Given the description of an element on the screen output the (x, y) to click on. 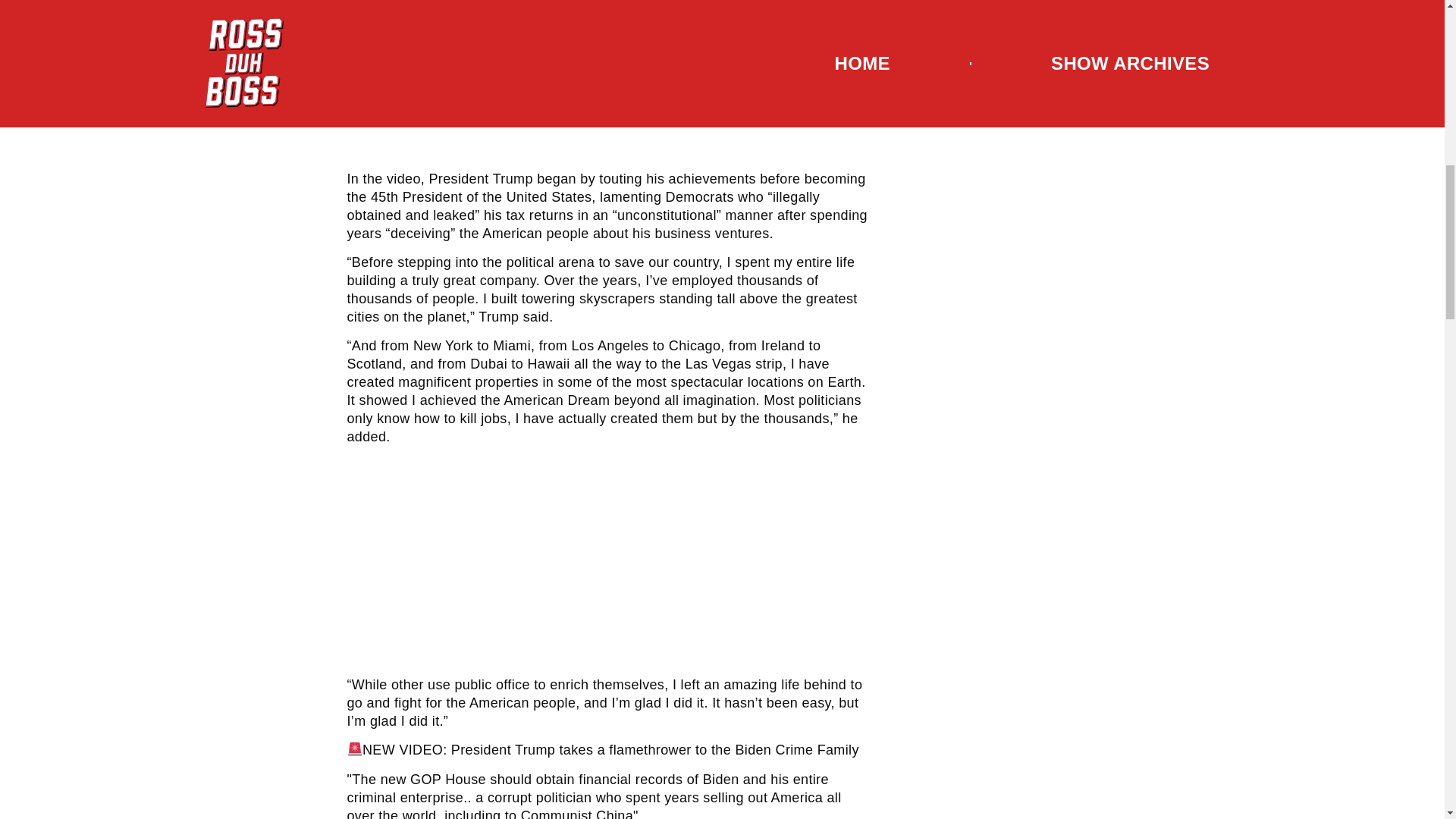
Advertisement (607, 563)
Advertisement (607, 81)
